Given the description of an element on the screen output the (x, y) to click on. 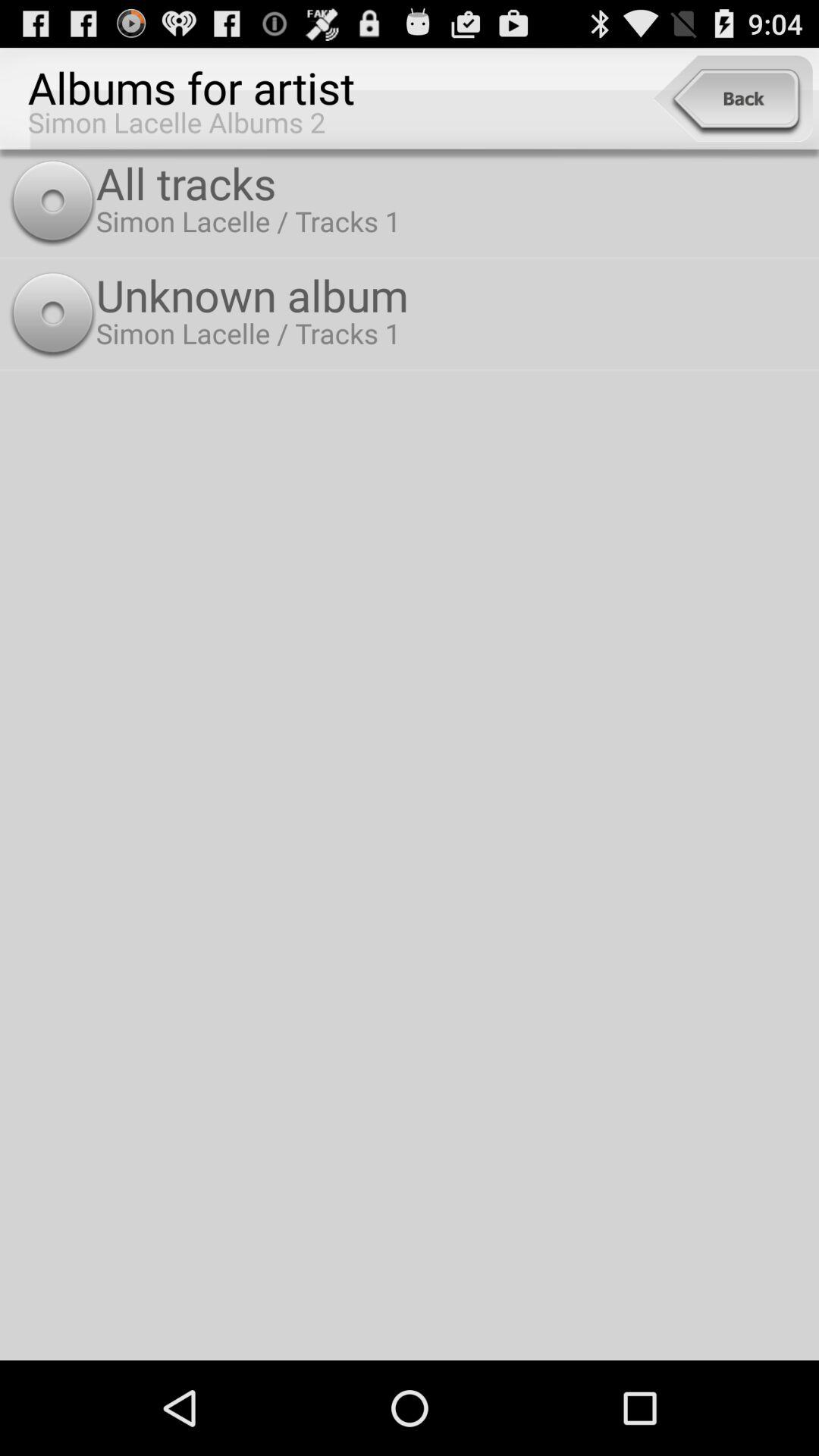
choose all tracks item (454, 182)
